Given the description of an element on the screen output the (x, y) to click on. 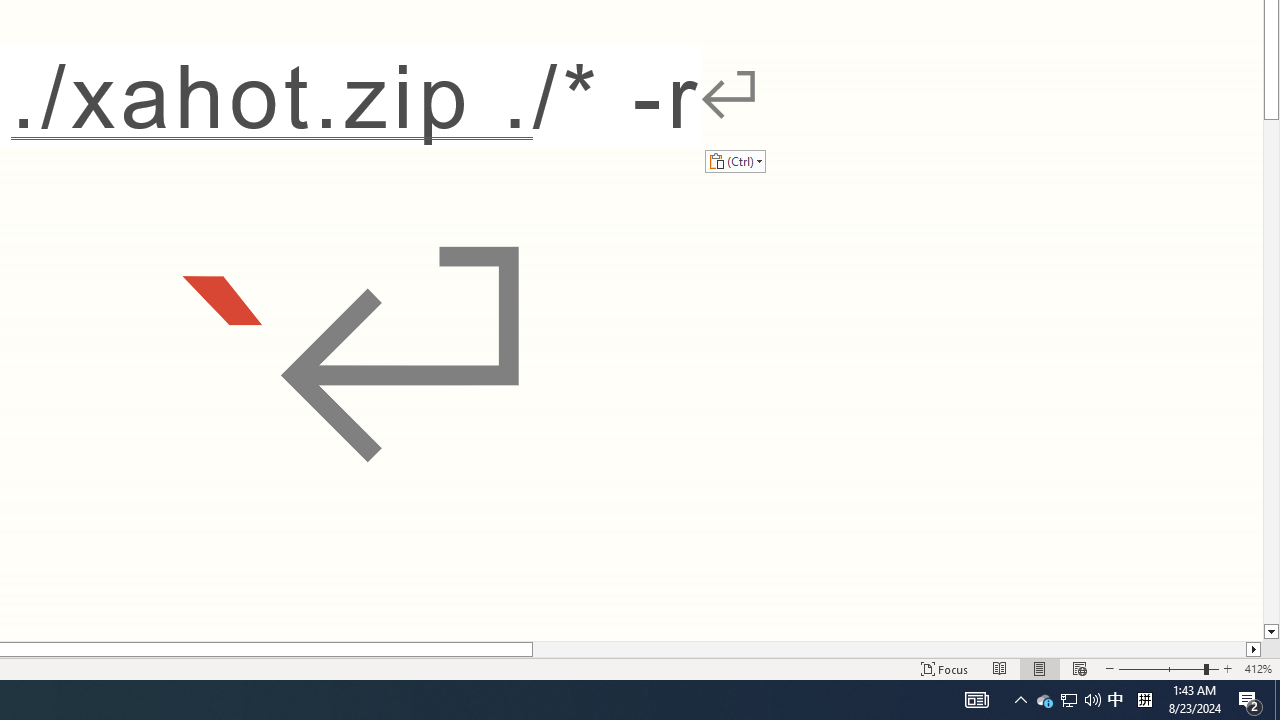
Line down (1271, 632)
Page right (888, 649)
Page down (1271, 372)
Zoom 412% (1258, 668)
Column right (1254, 649)
Action: Paste alternatives (735, 160)
